Given the description of an element on the screen output the (x, y) to click on. 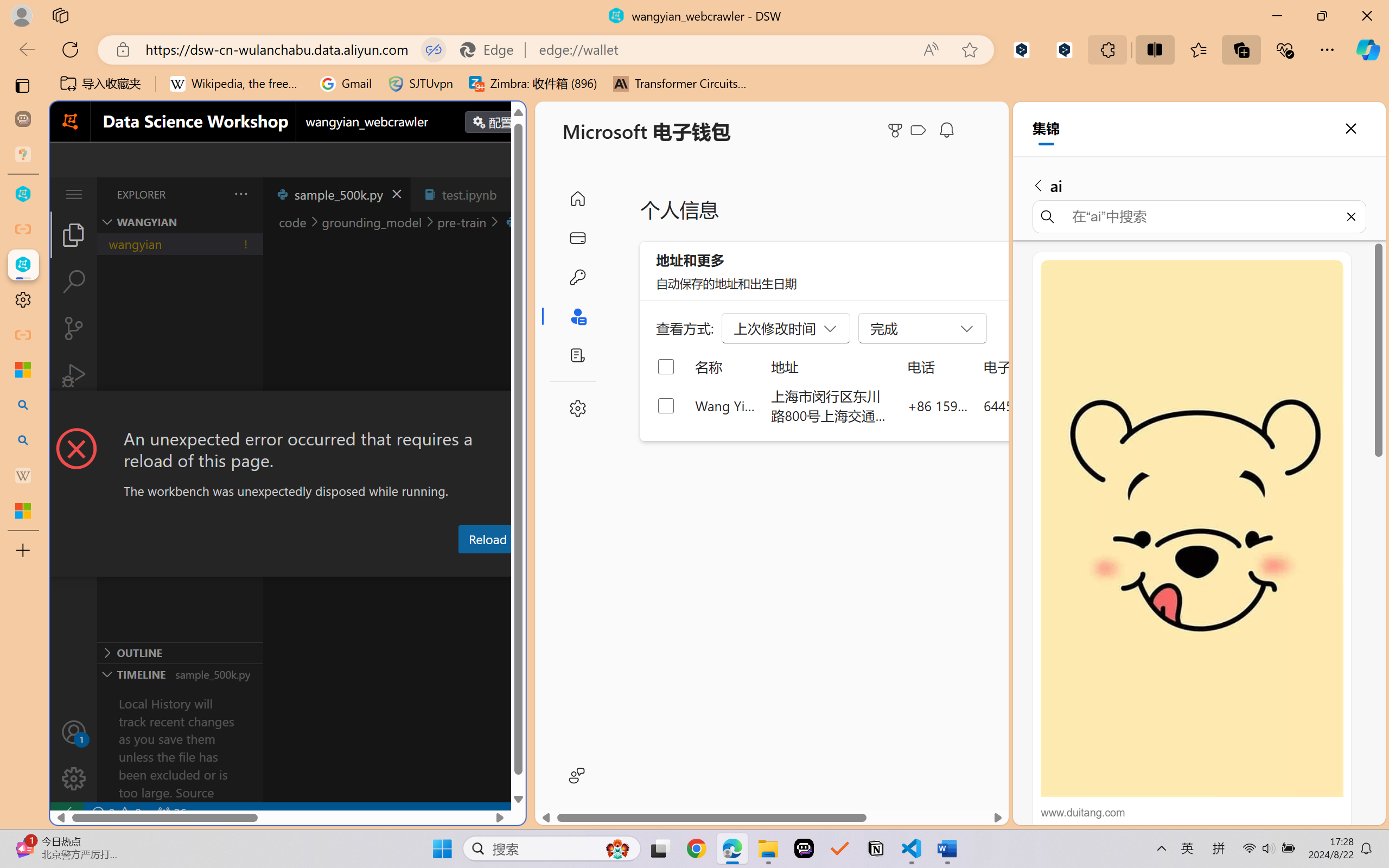
Reload (486, 538)
Views and More Actions... (240, 193)
sample_500k.py (336, 194)
Problems (Ctrl+Shift+M) (308, 565)
test.ipynb (468, 194)
